Given the description of an element on the screen output the (x, y) to click on. 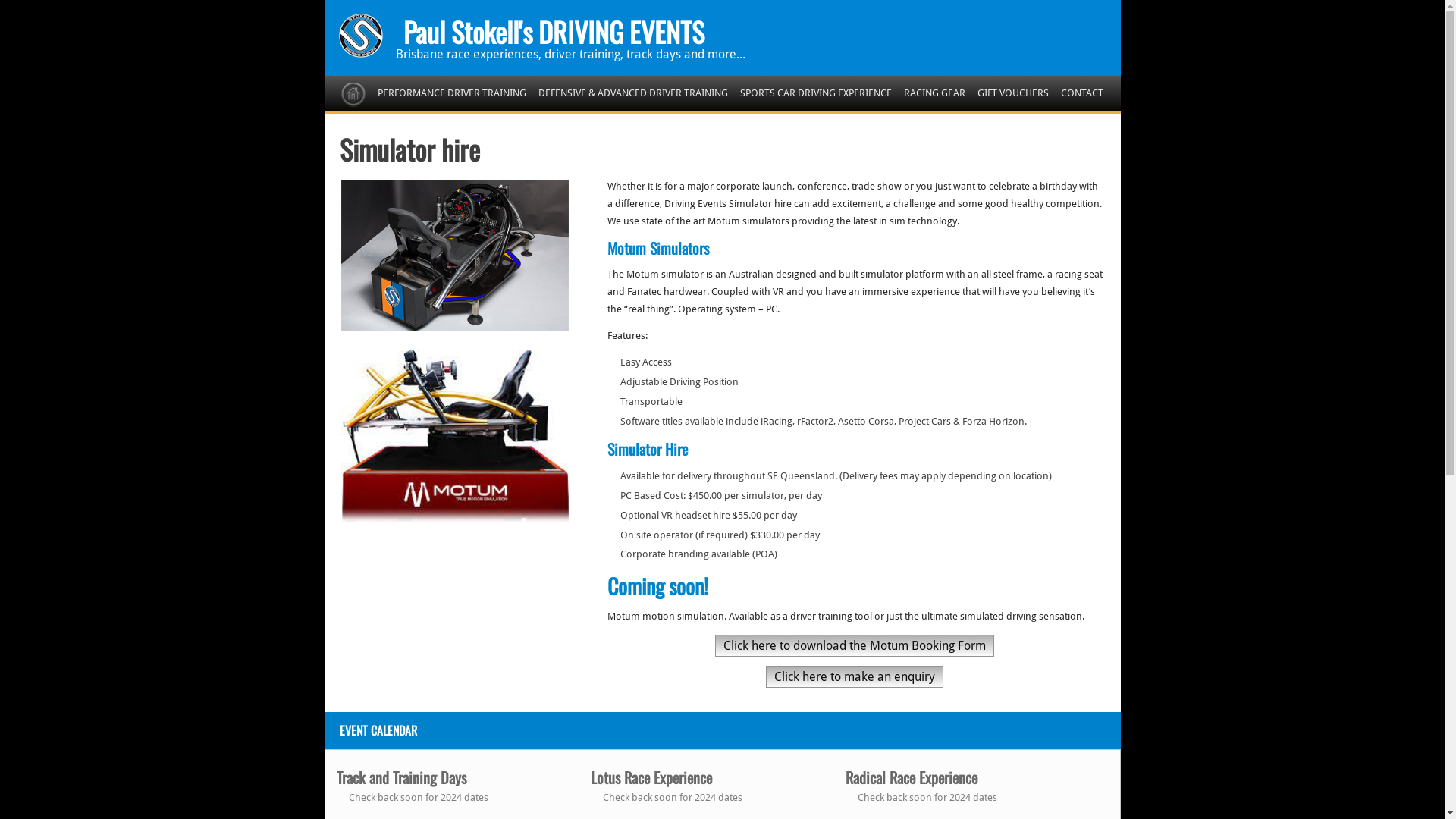
Click here to make an enquiry Element type: text (854, 676)
PERFORMANCE DRIVER TRAINING Element type: text (451, 92)
SPORTS CAR DRIVING EXPERIENCE Element type: text (815, 92)
Check back soon for 2024 dates Element type: text (927, 797)
Simulator hire Element type: text (409, 148)
Click here to download the Motum Booking Form Element type: text (854, 645)
DEFENSIVE & ADVANCED DRIVER TRAINING Element type: text (633, 92)
RACING GEAR Element type: text (934, 92)
Check back soon for 2024 dates Element type: text (672, 797)
Paul Stokell's DRIVING EVENTS Element type: text (553, 31)
GIFT VOUCHERS Element type: text (1013, 92)
CONTACT Element type: text (1081, 92)
Check back soon for 2024 dates Element type: text (418, 797)
